Given the description of an element on the screen output the (x, y) to click on. 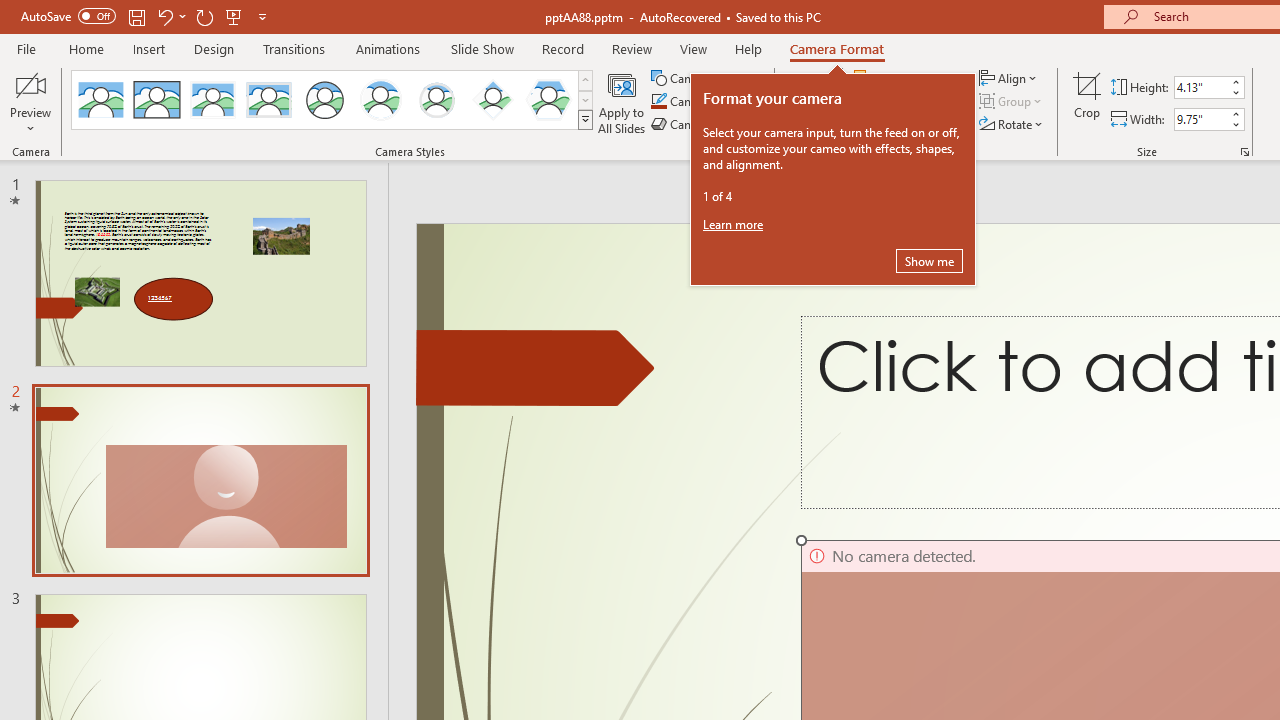
Simple Frame Circle (324, 100)
Center Shadow Circle (381, 100)
Selection Pane... (904, 124)
More (1235, 113)
Show me (929, 260)
Learn more (734, 224)
No Style (100, 100)
Crop (1087, 102)
Camera Format (836, 48)
